Given the description of an element on the screen output the (x, y) to click on. 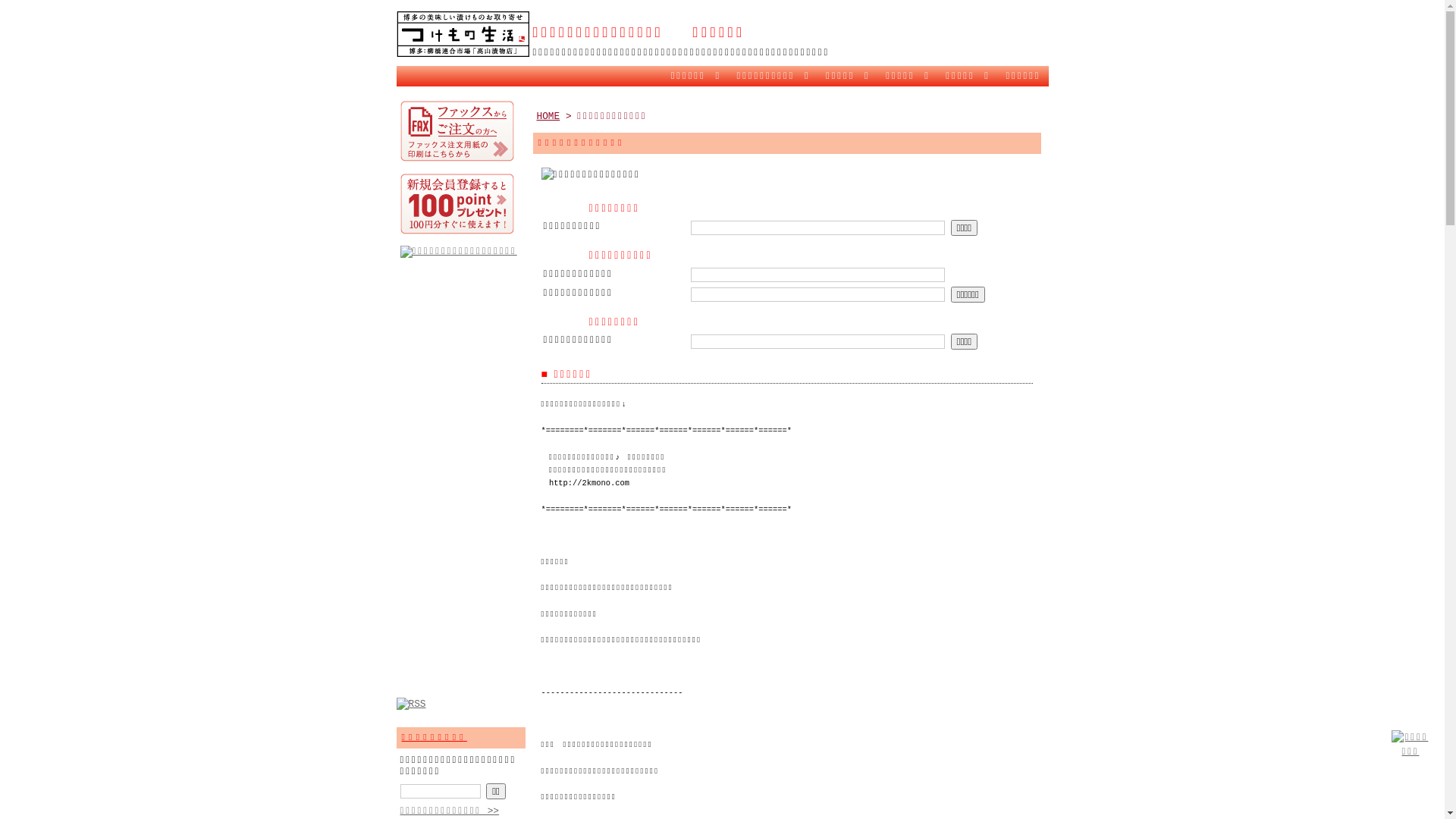
HOME Element type: text (548, 116)
